Given the description of an element on the screen output the (x, y) to click on. 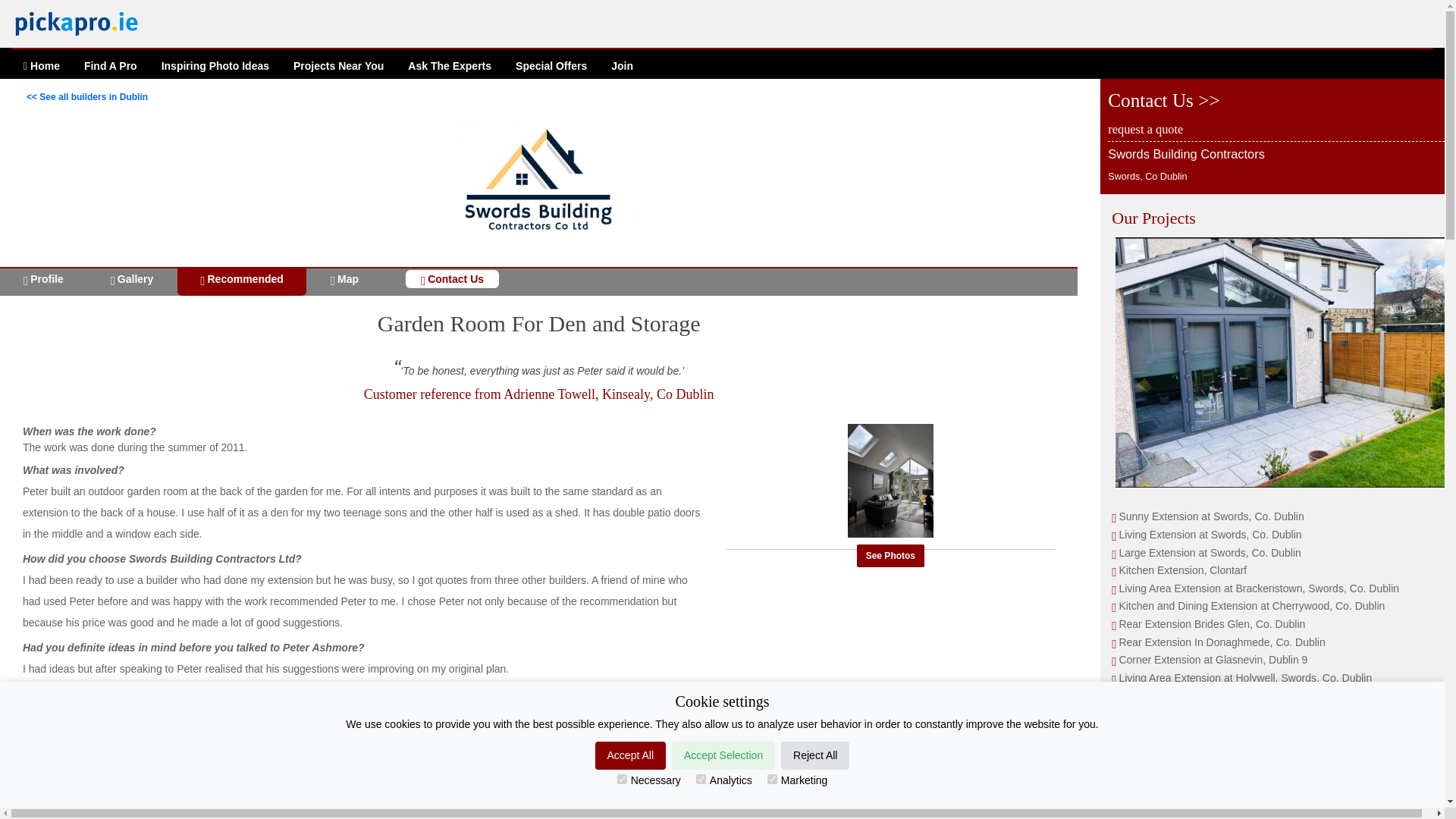
Find A Pro (110, 66)
Marketing (772, 778)
Home (41, 66)
Recommended (241, 277)
Special Offers (550, 66)
Inspiring Photo Ideas (215, 66)
Necessary (622, 778)
Accept Selection (722, 755)
Ask The Experts (449, 66)
Profile (43, 277)
